Given the description of an element on the screen output the (x, y) to click on. 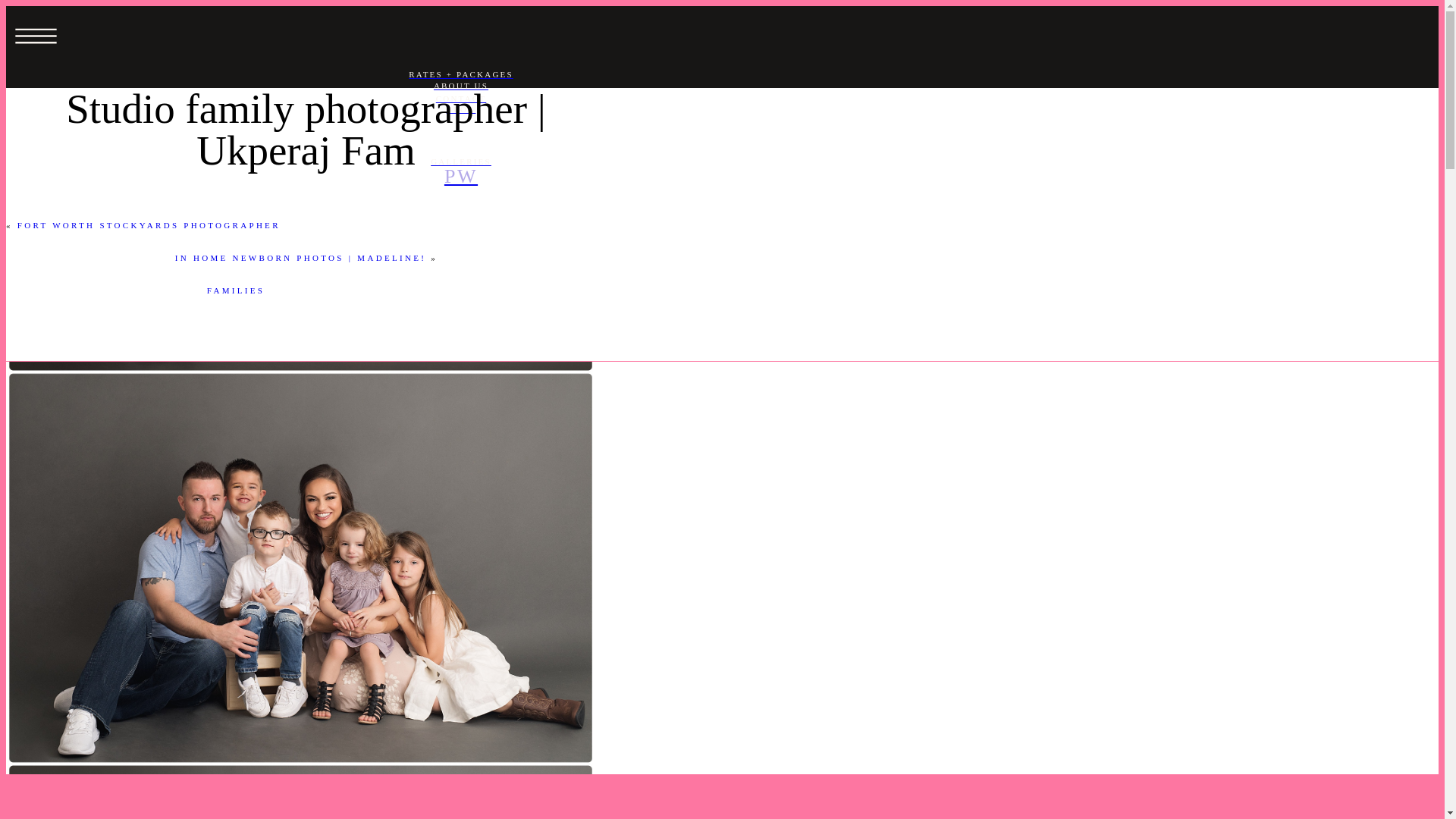
FORT WORTH STOCKYARDS PHOTOGRAPHER (149, 225)
PW (460, 176)
FAMILIES (235, 289)
CONTACT (460, 98)
ABOUT US (460, 85)
